Given the description of an element on the screen output the (x, y) to click on. 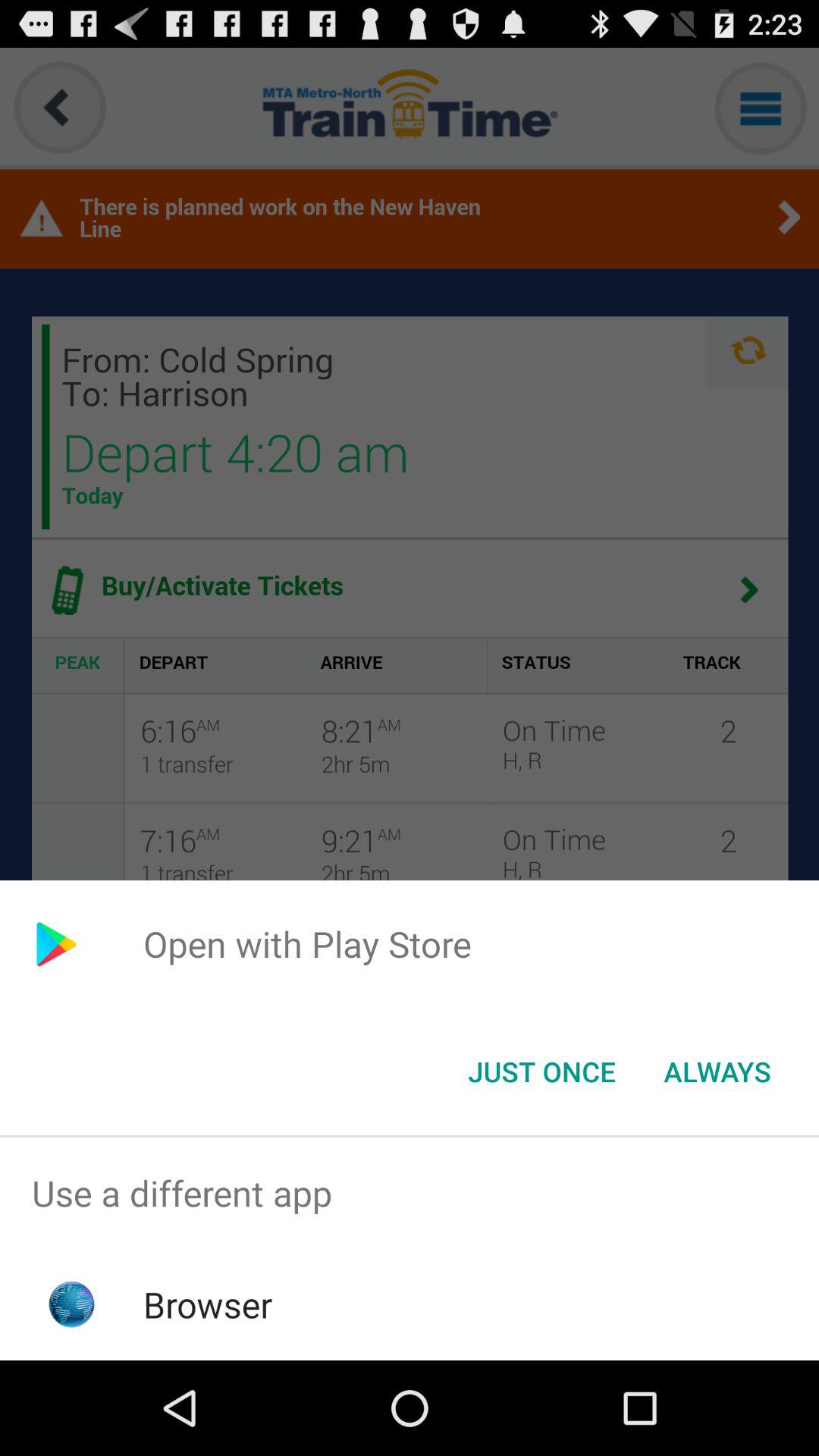
choose app below open with play icon (541, 1071)
